Given the description of an element on the screen output the (x, y) to click on. 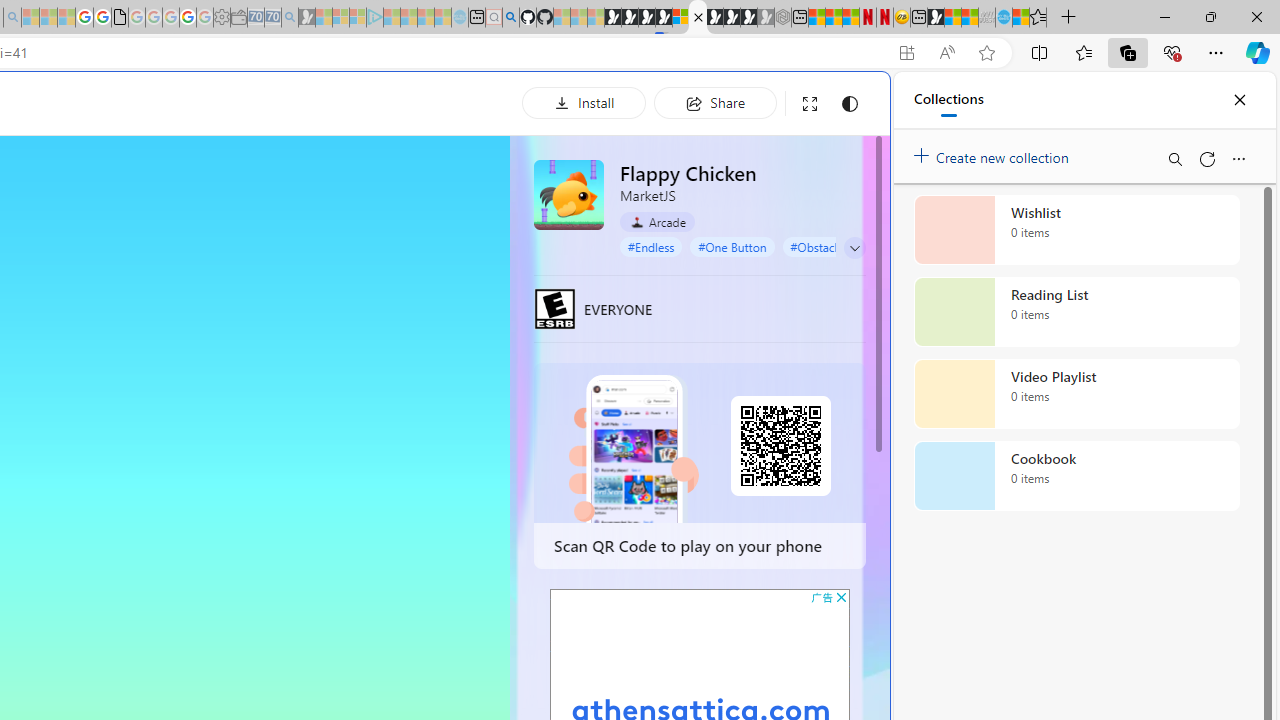
Class: expand-arrow neutral (854, 247)
Video Playlist collection, 0 items (1076, 394)
Full screen (810, 103)
Change to dark mode (849, 103)
